Given the description of an element on the screen output the (x, y) to click on. 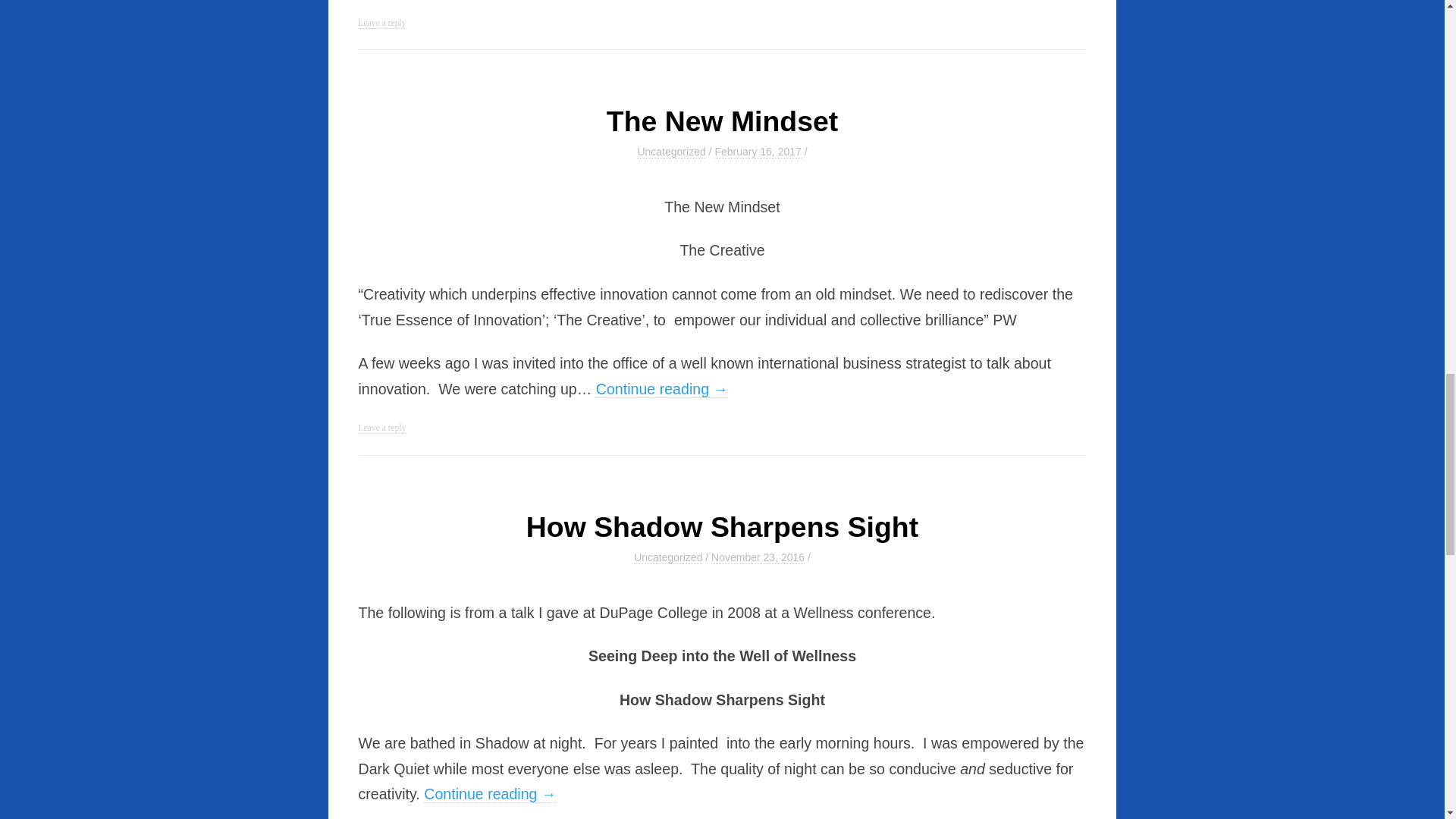
12:43 am (758, 557)
The New Mindset (722, 121)
Uncategorized (667, 557)
Uncategorized (670, 151)
How Shadow Sharpens Sight (721, 526)
9:29 pm (757, 151)
February 16, 2017 (757, 151)
November 23, 2016 (758, 557)
Leave a reply (382, 23)
Leave a reply (382, 428)
